Given the description of an element on the screen output the (x, y) to click on. 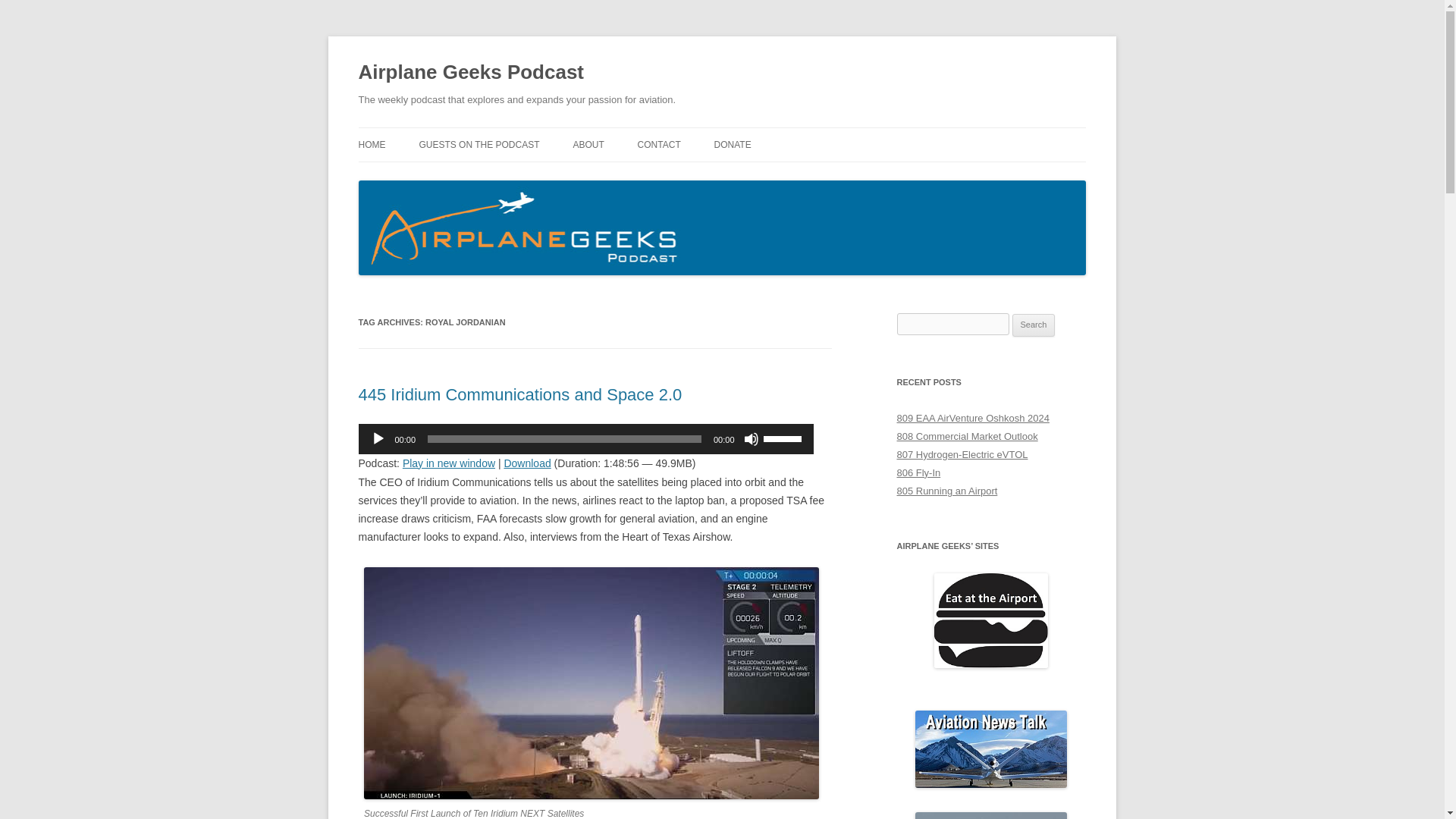
Download (526, 463)
CONTACT (659, 144)
Search (1033, 324)
How to contact the Airplane Geeks (659, 144)
Play in new window (449, 463)
Play (377, 438)
Airplane Geeks Podcast (470, 72)
GUESTS ON THE PODCAST (478, 144)
Play in new window (449, 463)
Download (526, 463)
Mute (750, 438)
